Given the description of an element on the screen output the (x, y) to click on. 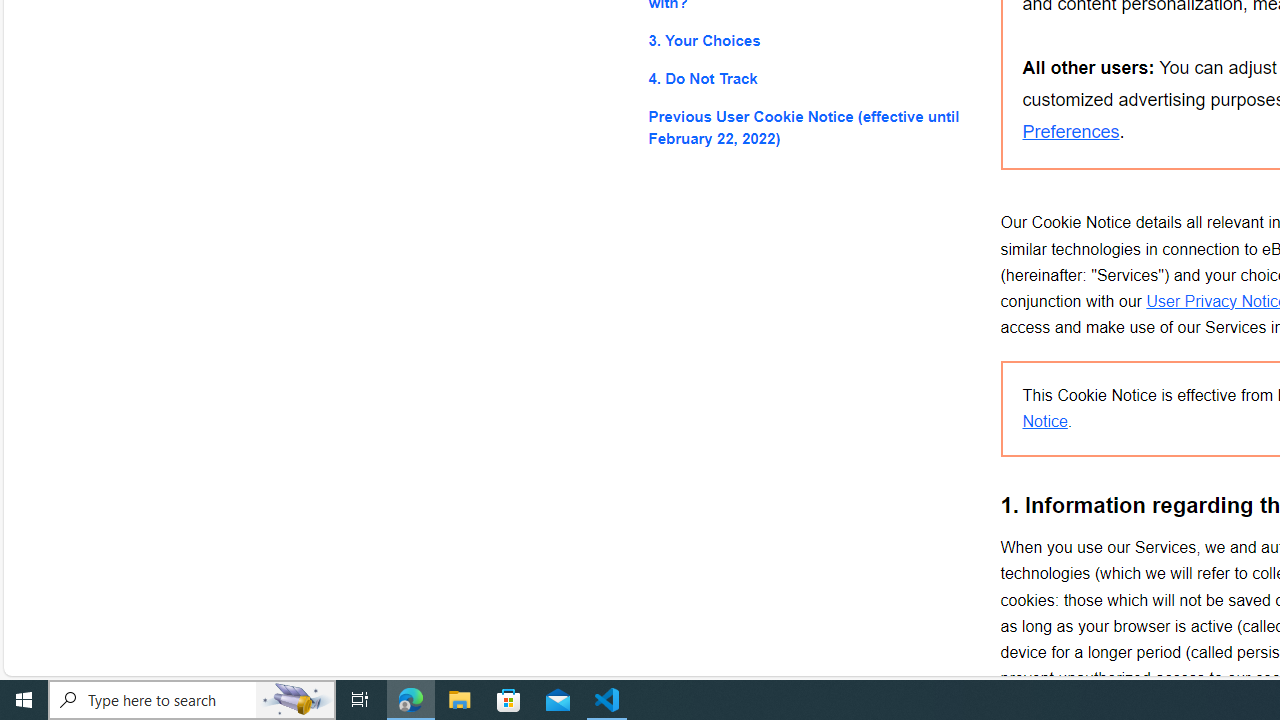
4. Do Not Track (807, 78)
3. Your Choices (807, 39)
4. Do Not Track (807, 78)
3. Your Choices (807, 39)
